Given the description of an element on the screen output the (x, y) to click on. 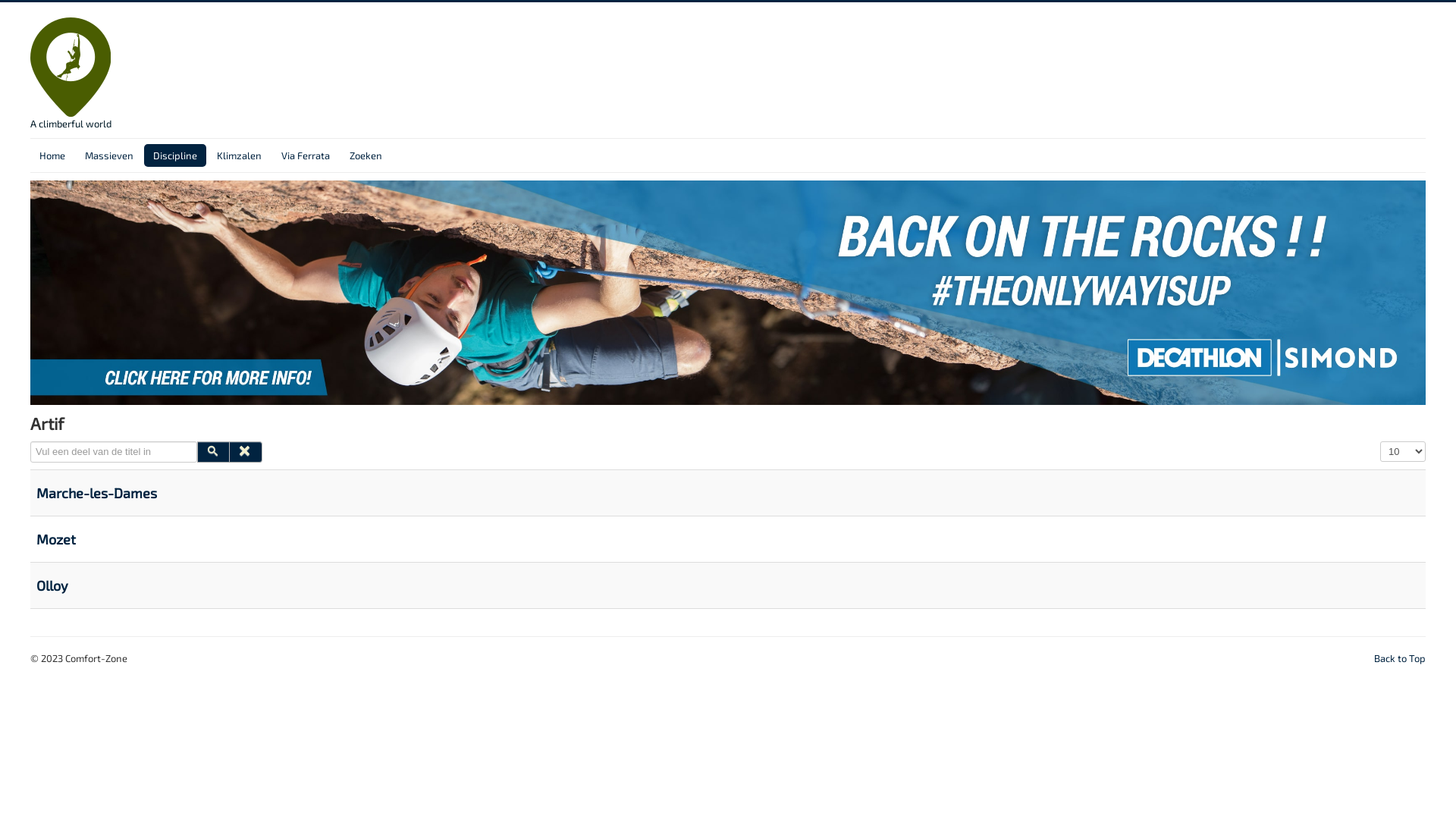
Home Element type: text (52, 155)
Marche-les-Dames Element type: text (96, 492)
Zoeken Element type: text (365, 155)
Discipline Element type: text (175, 155)
Massieven Element type: text (108, 155)
Klimzalen Element type: text (238, 155)
Via Ferrata Element type: text (305, 155)
Maart Element type: hover (727, 291)
A climberful world Element type: text (70, 73)
Olloy Element type: text (52, 585)
Mozet Element type: text (55, 538)
Wissen Element type: hover (245, 451)
Back to Top Element type: text (1399, 658)
Zoeken Element type: hover (213, 451)
Vul de hele titel of een deel ervan in om naar te zoeken. Element type: hover (113, 451)
